Given the description of an element on the screen output the (x, y) to click on. 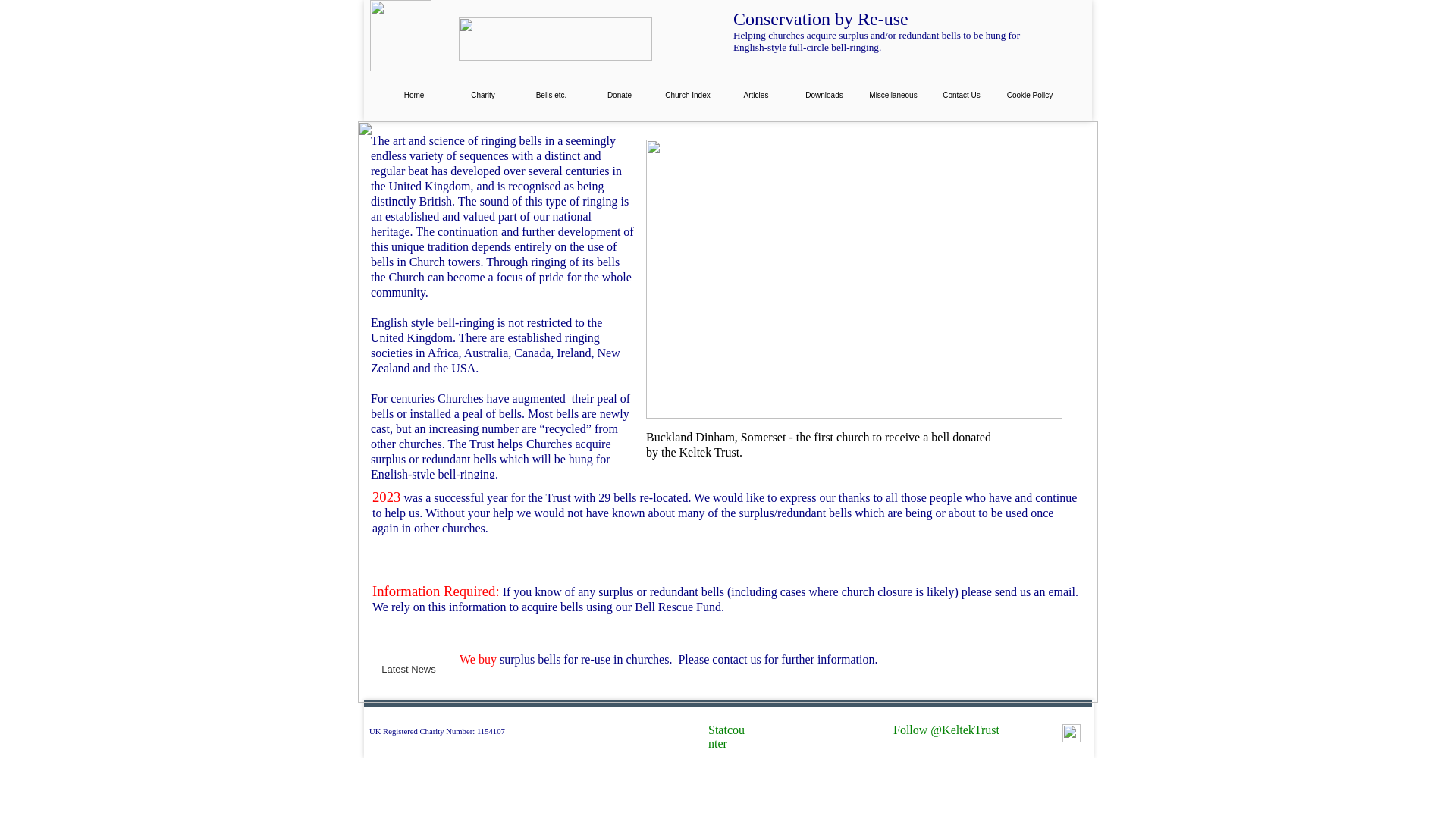
articles (755, 94)
Donate (619, 94)
Charity (482, 94)
Articles (755, 94)
Home (414, 94)
Church Index (687, 94)
Cookie Policy (1028, 94)
Contact Us (961, 94)
Latest News (408, 669)
